Given the description of an element on the screen output the (x, y) to click on. 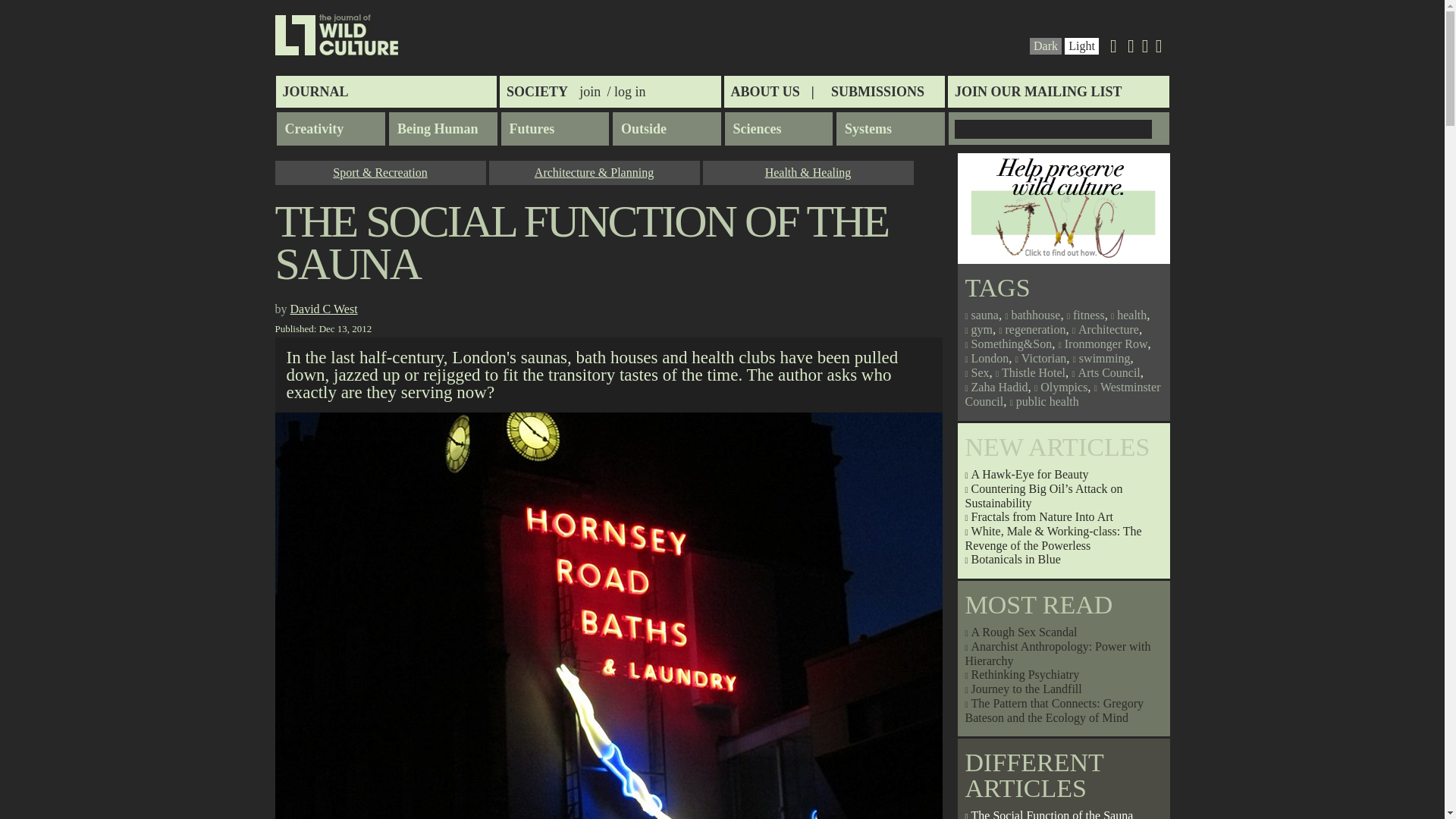
Futures (554, 128)
Dark (1045, 45)
Facebook (1145, 47)
SUBMISSIONS (877, 91)
SOCIETY (537, 91)
JOURNAL (386, 91)
Click to change background colour. (1081, 45)
Home (336, 35)
JOIN OUR MAILING LIST (1058, 91)
